Given the description of an element on the screen output the (x, y) to click on. 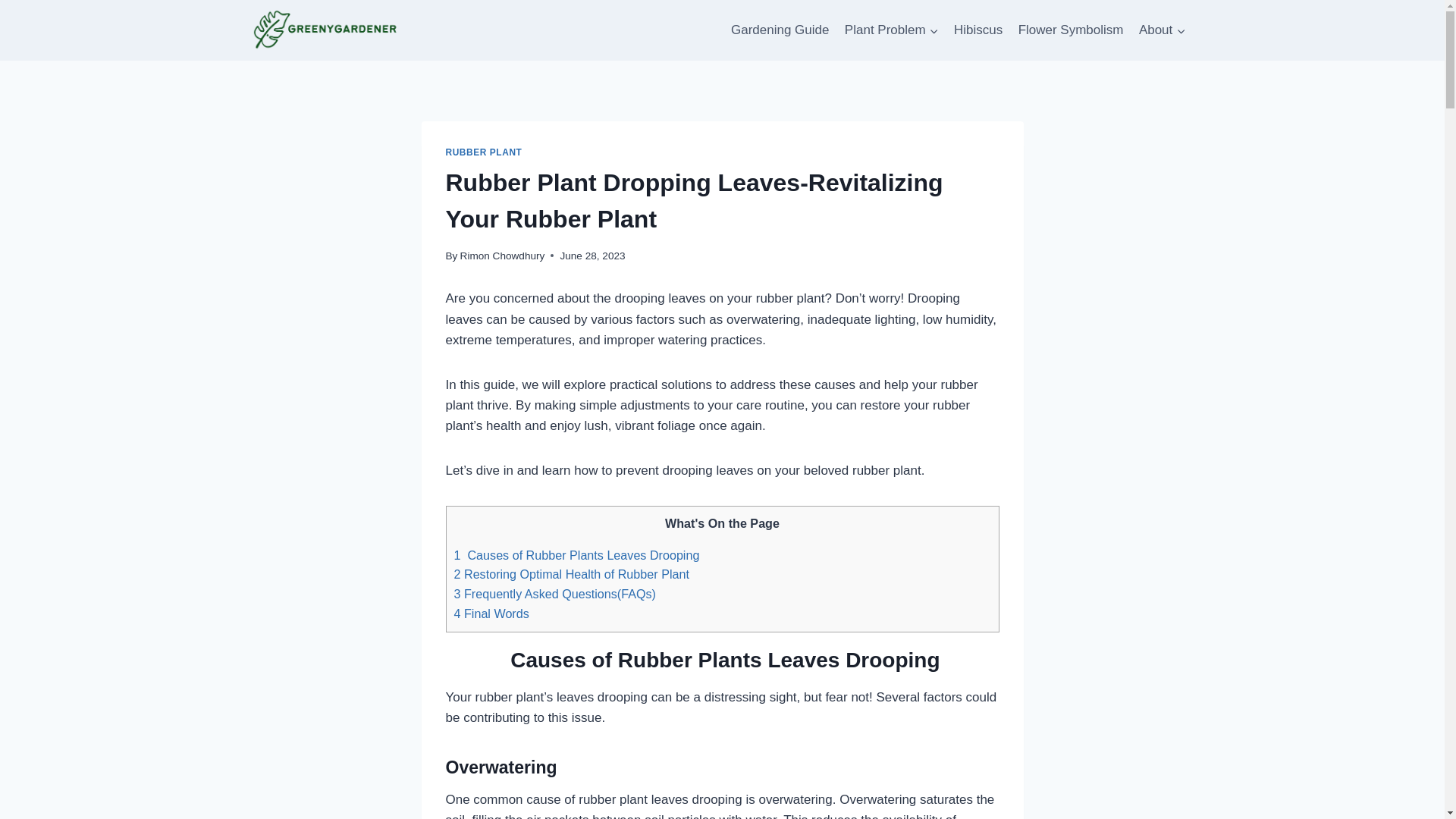
Flower Symbolism (1070, 30)
1  Causes of Rubber Plants Leaves Drooping (575, 554)
Hibiscus (978, 30)
2 Restoring Optimal Health of Rubber Plant (570, 573)
Gardening Guide (780, 30)
RUBBER PLANT (483, 152)
Plant Problem (891, 30)
About (1162, 30)
4 Final Words (490, 612)
Rimon Chowdhury (502, 255)
